Given the description of an element on the screen output the (x, y) to click on. 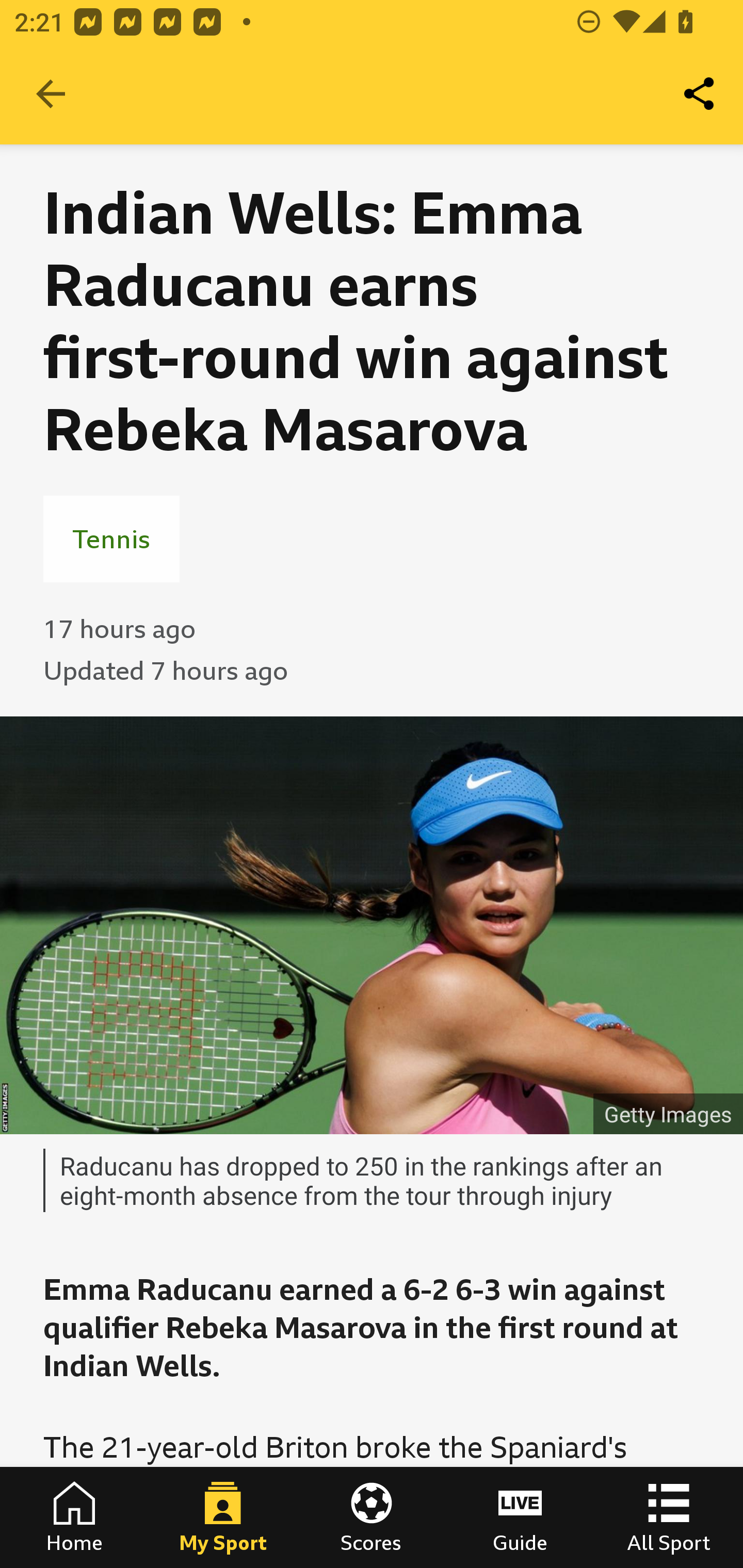
Navigate up (50, 93)
Share (699, 93)
Tennis (111, 538)
Home (74, 1517)
Scores (371, 1517)
Guide (519, 1517)
All Sport (668, 1517)
